Given the description of an element on the screen output the (x, y) to click on. 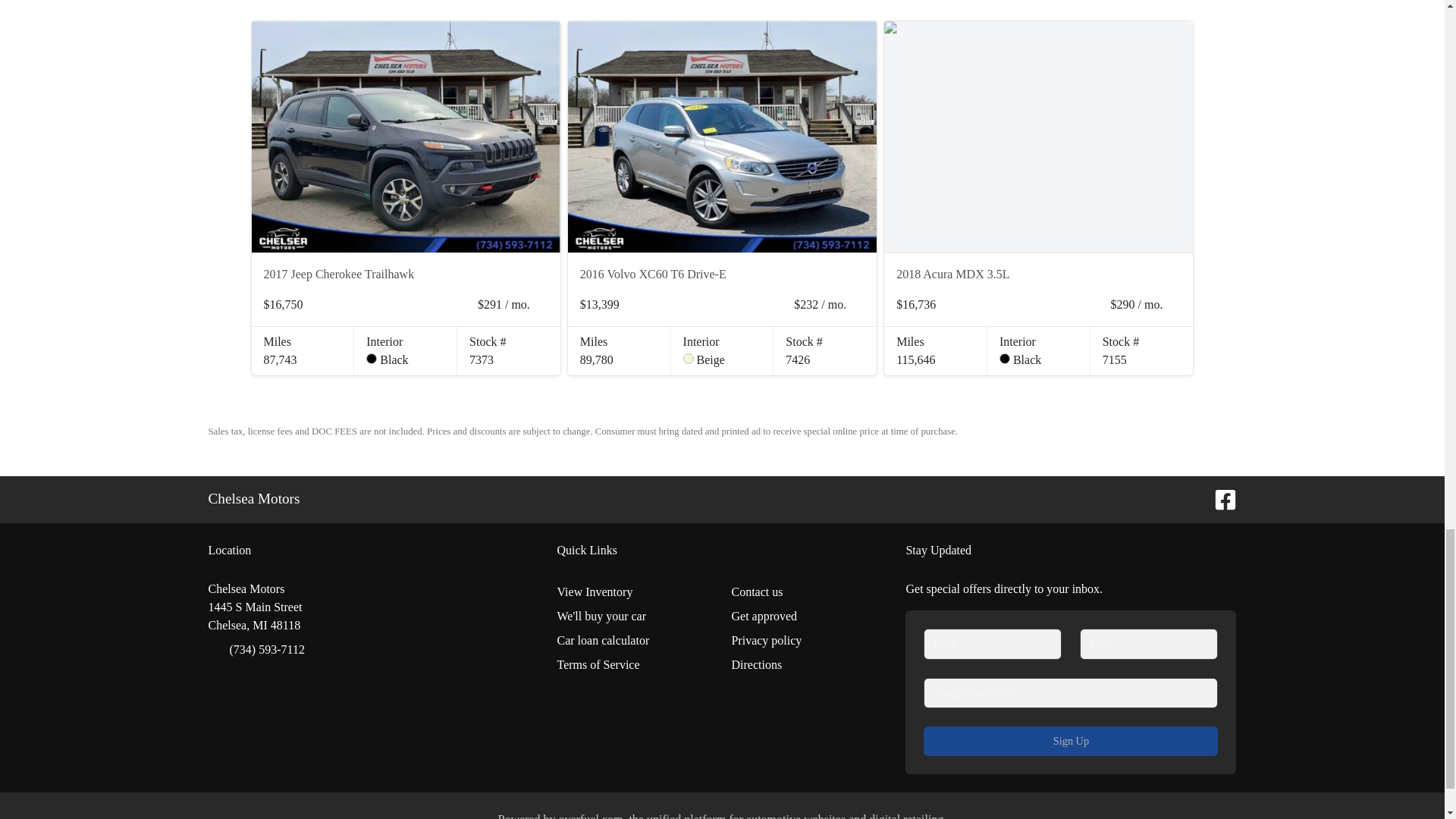
Sign Up (1070, 740)
2016 Volvo XC60 T6 Drive-E (710, 274)
2017 Jeep Cherokee Trailhawk (405, 136)
2018 Acura MDX 3.5L (1026, 274)
Privacy policy (808, 640)
Get approved (808, 616)
2017 Jeep Cherokee Trailhawk (393, 274)
View Inventory (634, 591)
Terms of Service (634, 664)
Directions (808, 664)
